Given the description of an element on the screen output the (x, y) to click on. 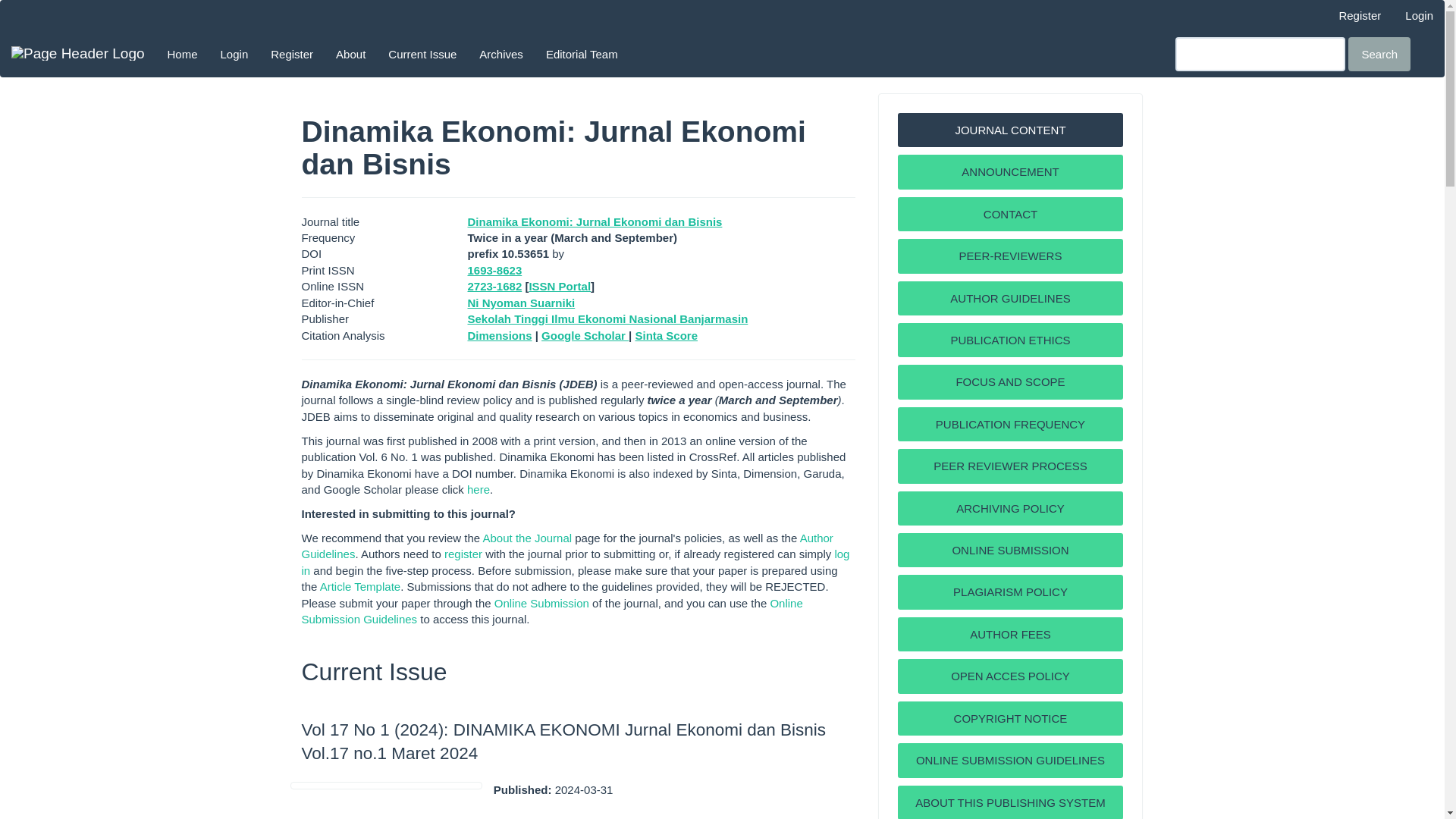
Google Scholar  (584, 335)
Register (291, 53)
ISSN (494, 286)
ISSN (494, 269)
Article Template (360, 585)
Archives (500, 53)
About (350, 53)
Google Scholar (521, 302)
Search (1379, 53)
Sinta Score (665, 335)
